Given the description of an element on the screen output the (x, y) to click on. 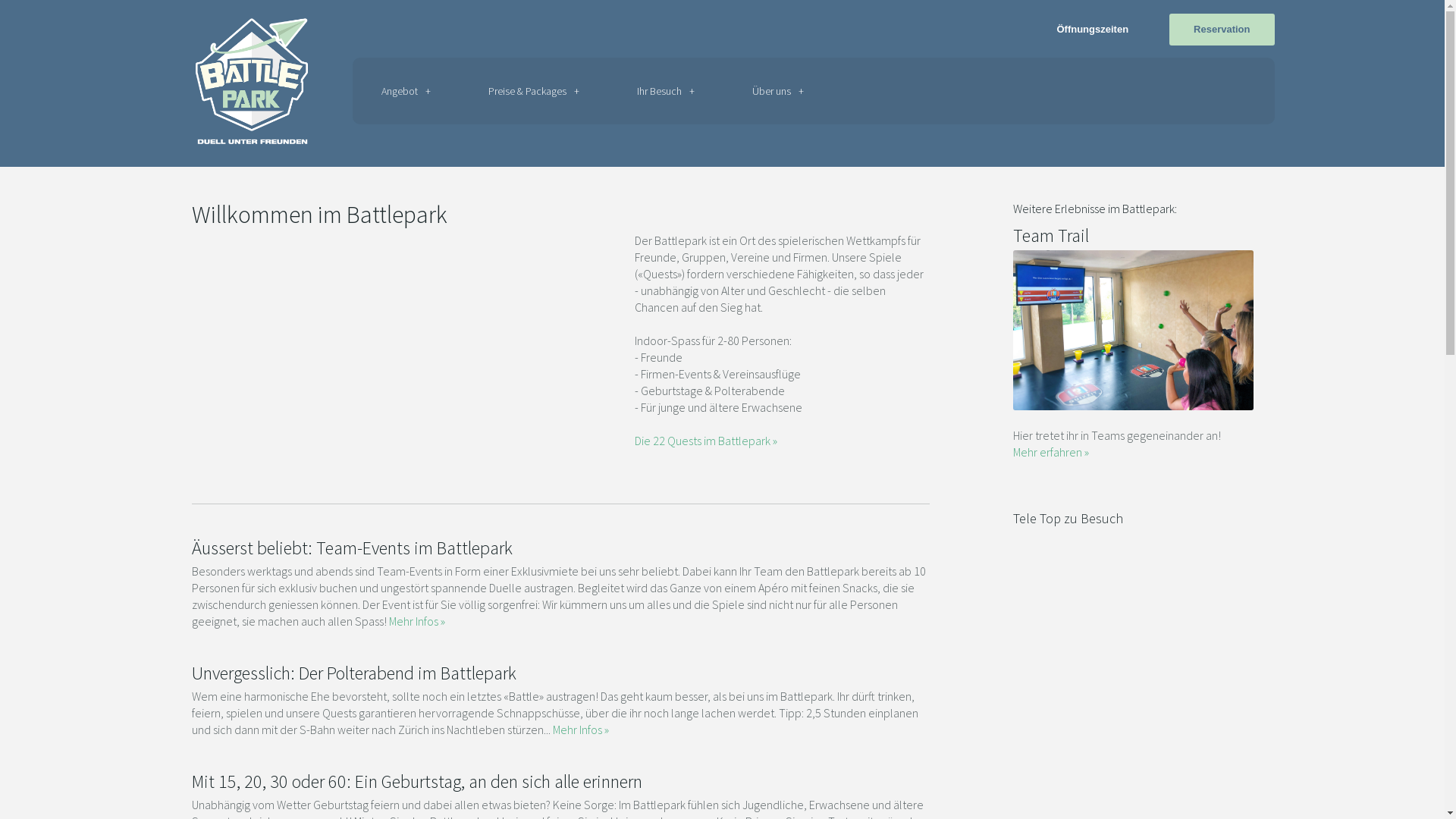
Preise & Packages Element type: text (533, 90)
Reservation Element type: text (1221, 28)
Angebot Element type: text (404, 90)
Ihr Besuch Element type: text (665, 90)
